Given the description of an element on the screen output the (x, y) to click on. 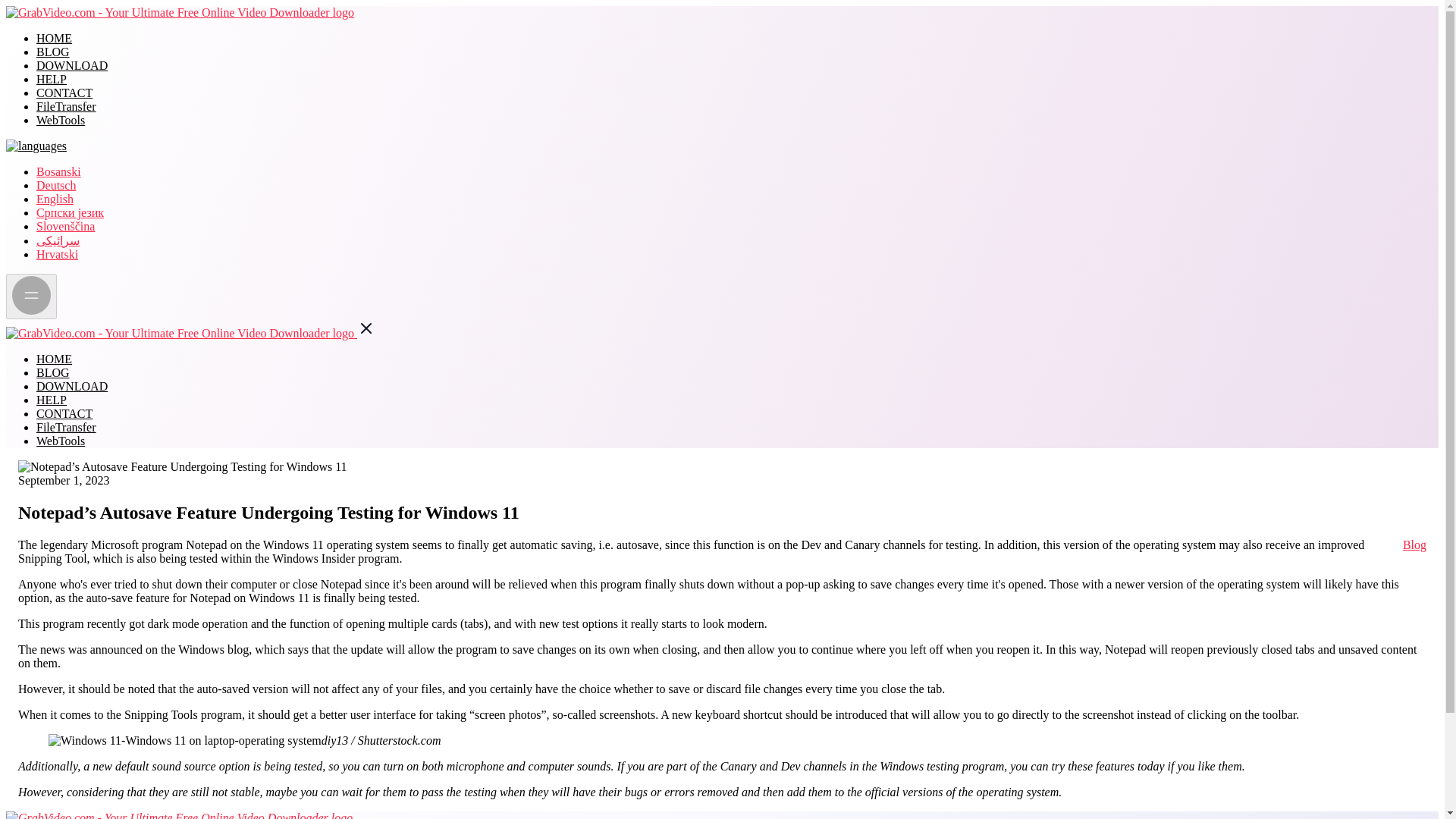
BLOG (52, 51)
FileTransfer (66, 427)
WebTools (60, 440)
Bosanski (58, 171)
DOWNLOAD (71, 65)
HELP (51, 78)
WebTools (60, 119)
English (55, 198)
CONTACT (64, 413)
HOME (53, 358)
